Given the description of an element on the screen output the (x, y) to click on. 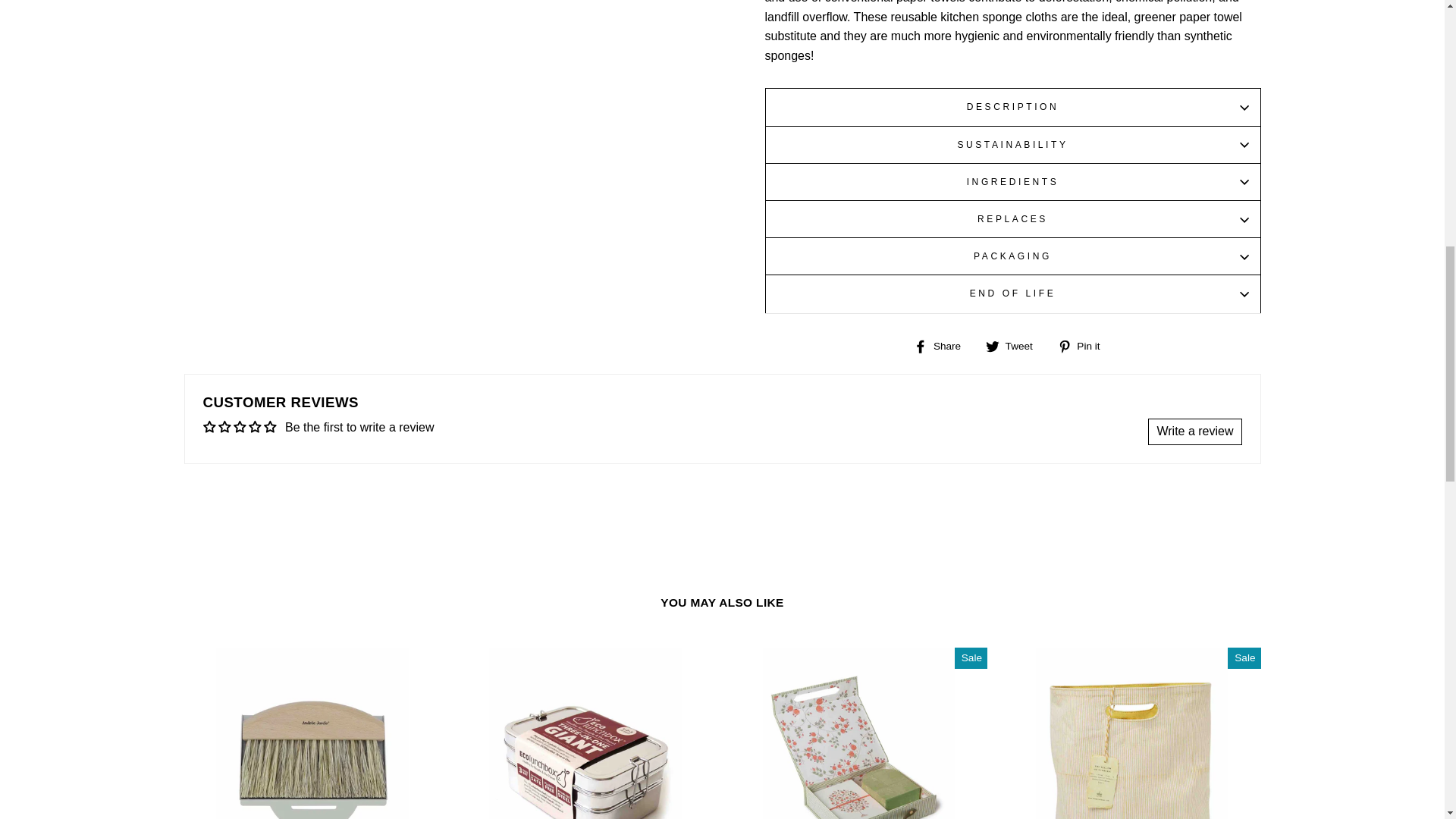
Pin on Pinterest (1085, 346)
Share on Facebook (943, 346)
Tweet on Twitter (1014, 346)
